Given the description of an element on the screen output the (x, y) to click on. 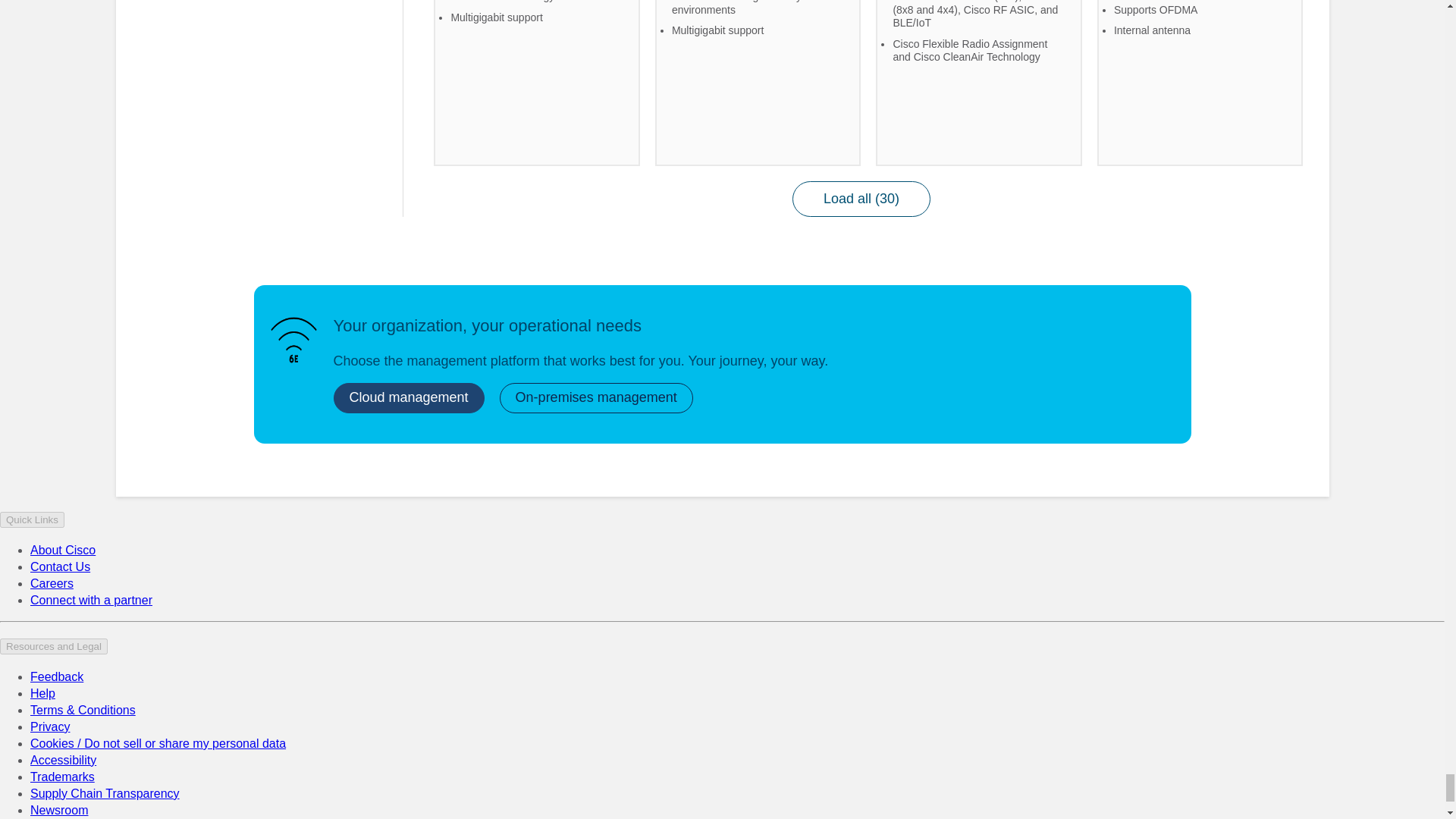
Your organization, your operational needs (292, 339)
